Given the description of an element on the screen output the (x, y) to click on. 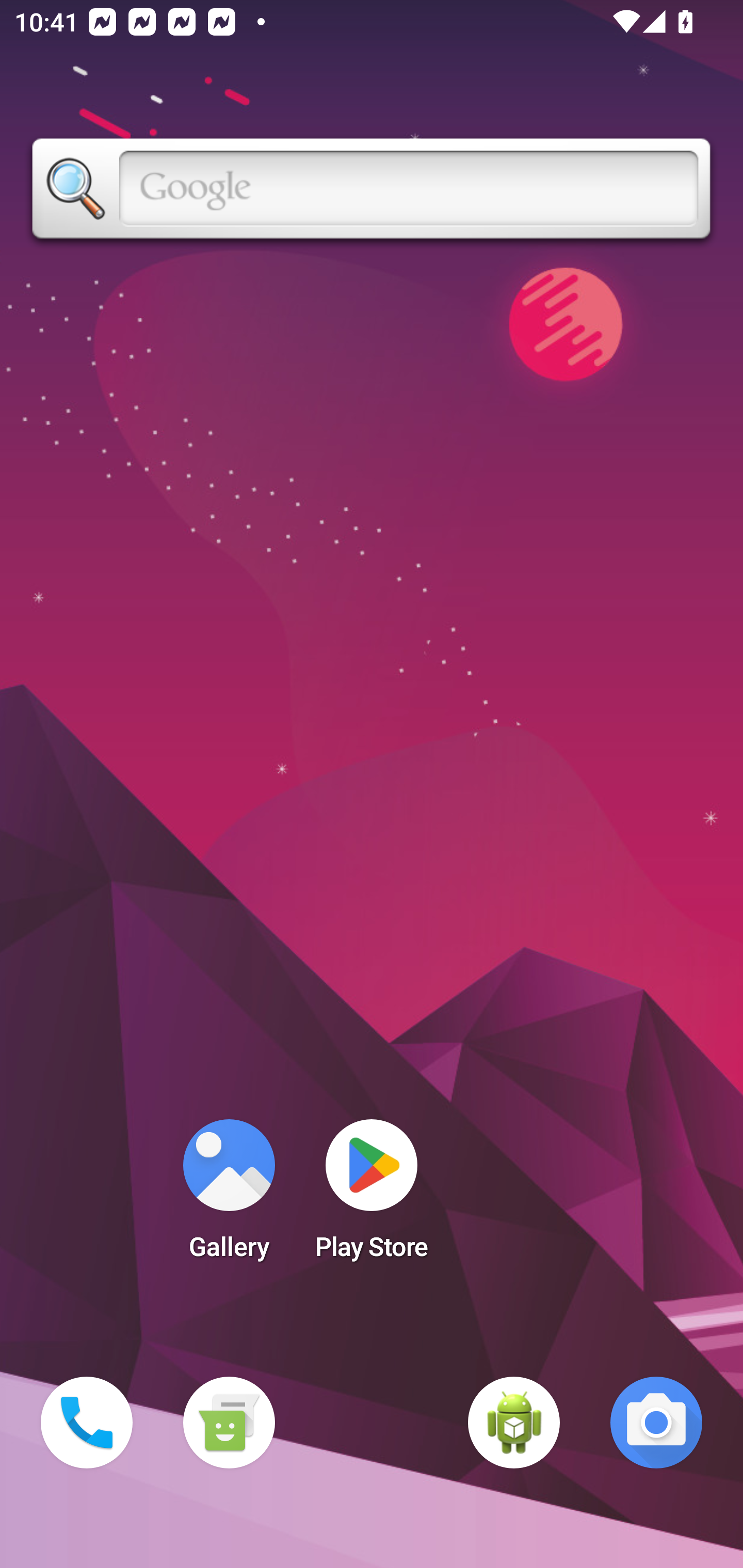
Gallery (228, 1195)
Play Store (371, 1195)
Phone (86, 1422)
Messaging (228, 1422)
WebView Browser Tester (513, 1422)
Camera (656, 1422)
